Given the description of an element on the screen output the (x, y) to click on. 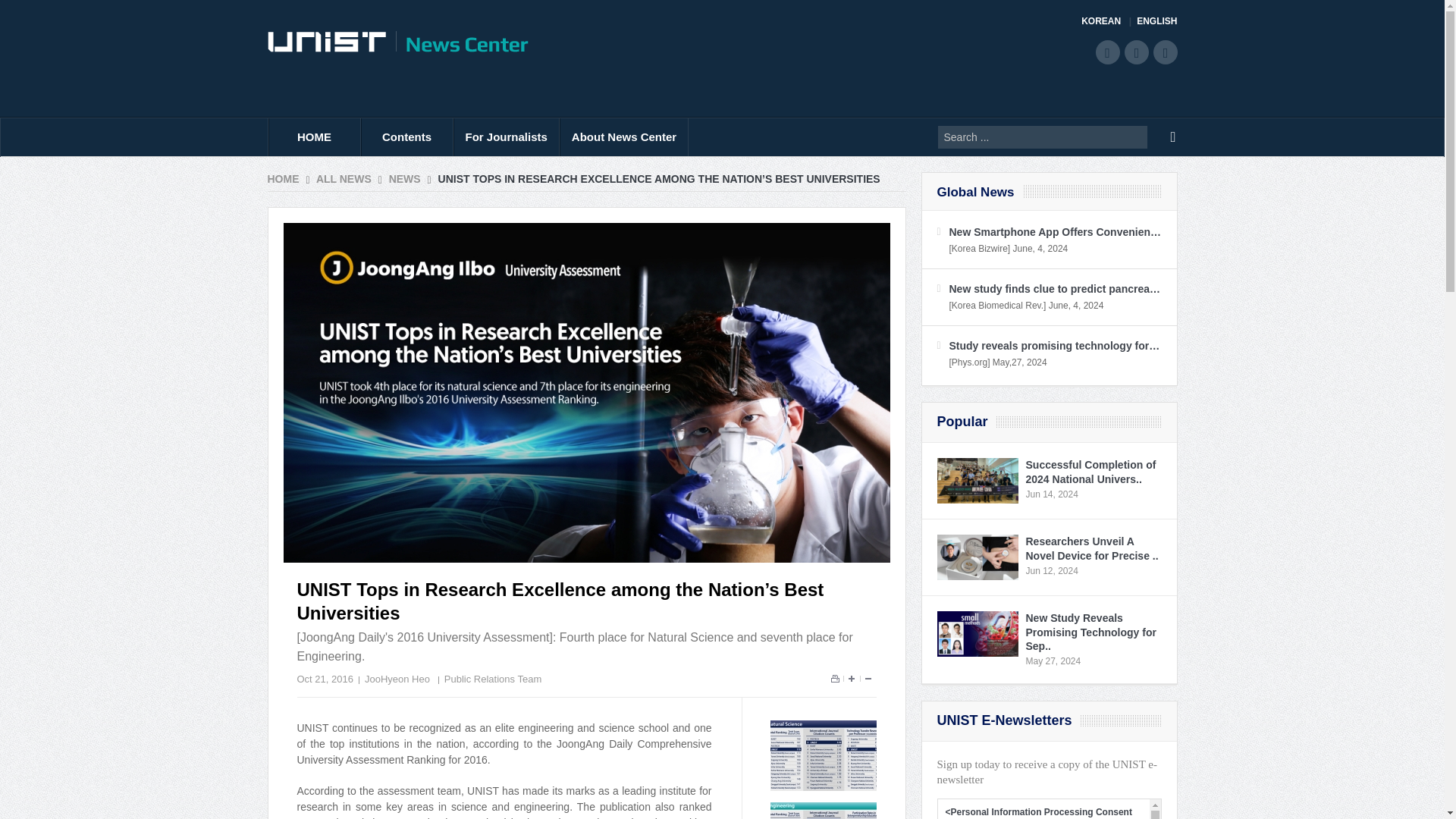
ENGLISH (1156, 21)
KOREAN (1105, 21)
HOME (313, 136)
Contents (406, 136)
